Given the description of an element on the screen output the (x, y) to click on. 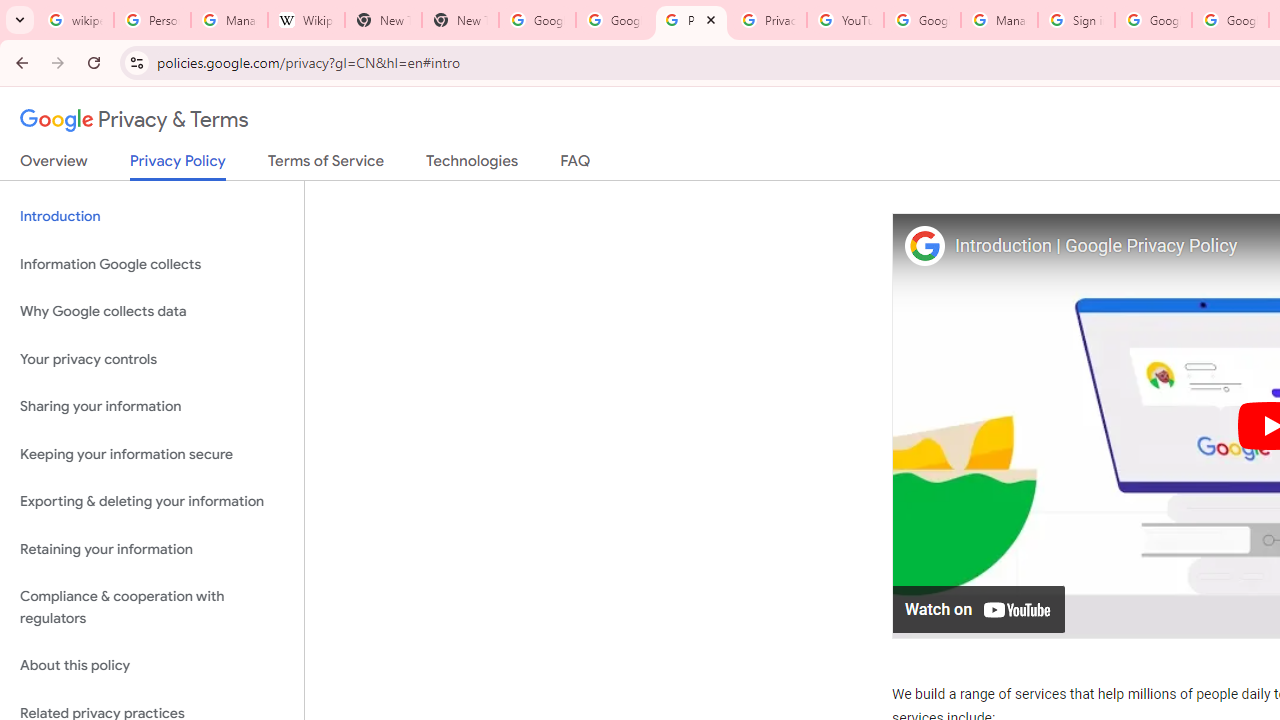
Watch on YouTube (979, 608)
Why Google collects data (152, 312)
Retaining your information (152, 548)
Sharing your information (152, 407)
New Tab (383, 20)
Keeping your information secure (152, 453)
Exporting & deleting your information (152, 502)
Personalization & Google Search results - Google Search Help (151, 20)
Google Account Help (922, 20)
Wikipedia:Edit requests - Wikipedia (306, 20)
Compliance & cooperation with regulators (152, 607)
Google Drive: Sign-in (614, 20)
